Given the description of an element on the screen output the (x, y) to click on. 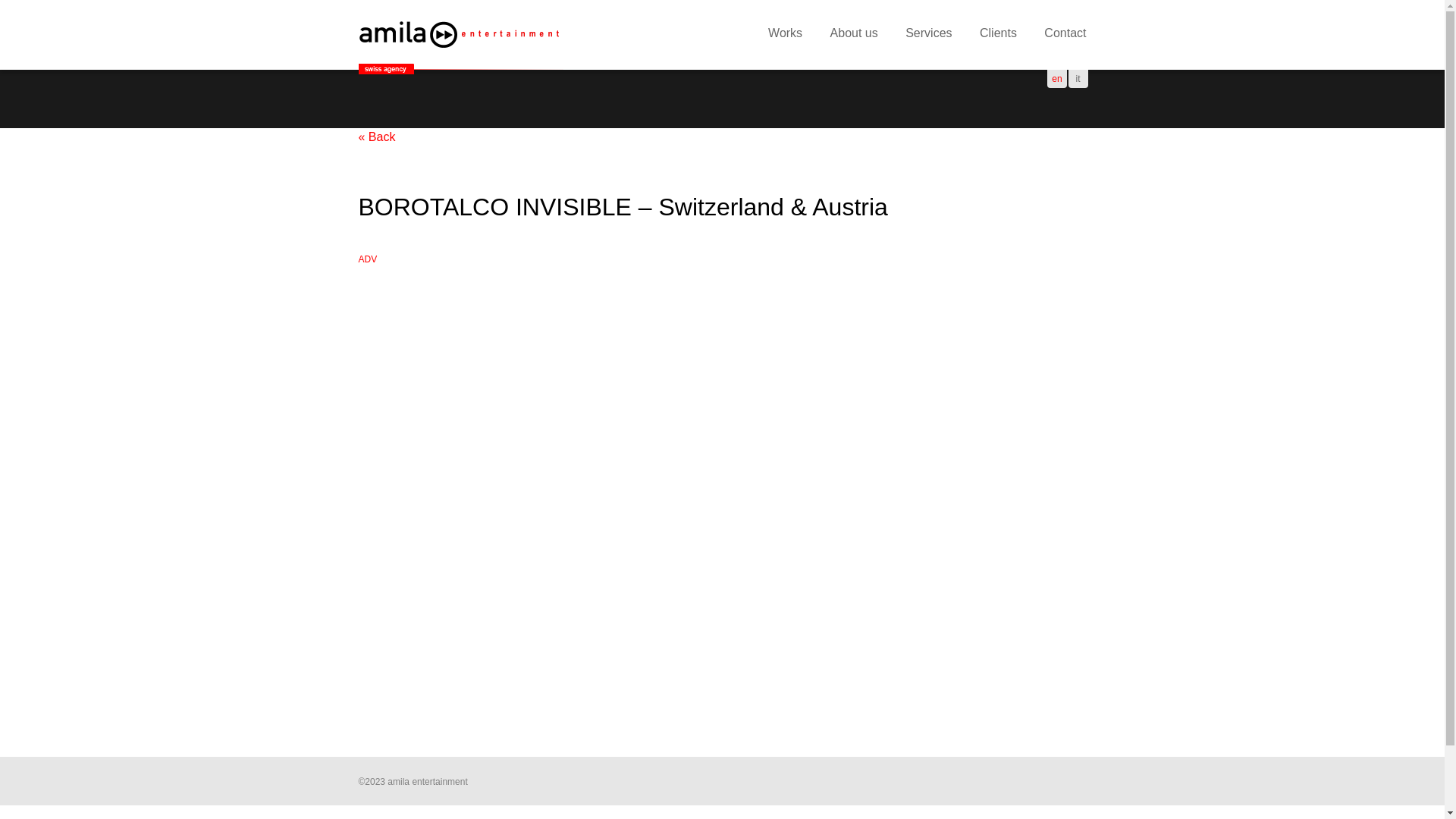
Clients Element type: text (997, 34)
amila entertainment Element type: hover (459, 34)
it Element type: text (1077, 78)
About us Element type: text (854, 34)
Services Element type: text (928, 34)
Works Element type: text (785, 34)
ADV Element type: text (366, 259)
Contact Element type: text (1064, 34)
